Given the description of an element on the screen output the (x, y) to click on. 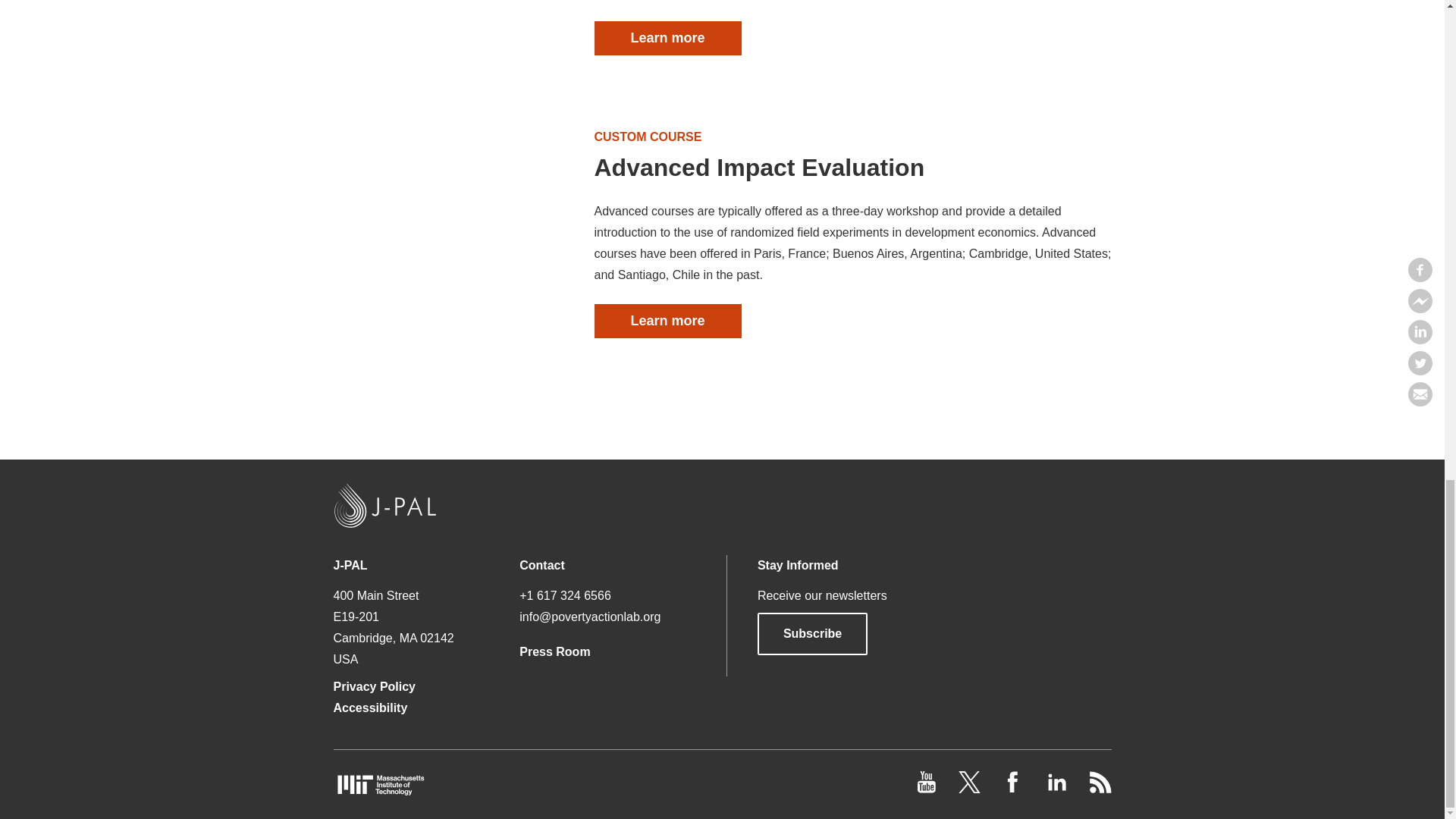
youtube (927, 788)
twitter (971, 788)
rss feed (1099, 788)
facebook (1015, 788)
LinkedIn (1057, 788)
